Given the description of an element on the screen output the (x, y) to click on. 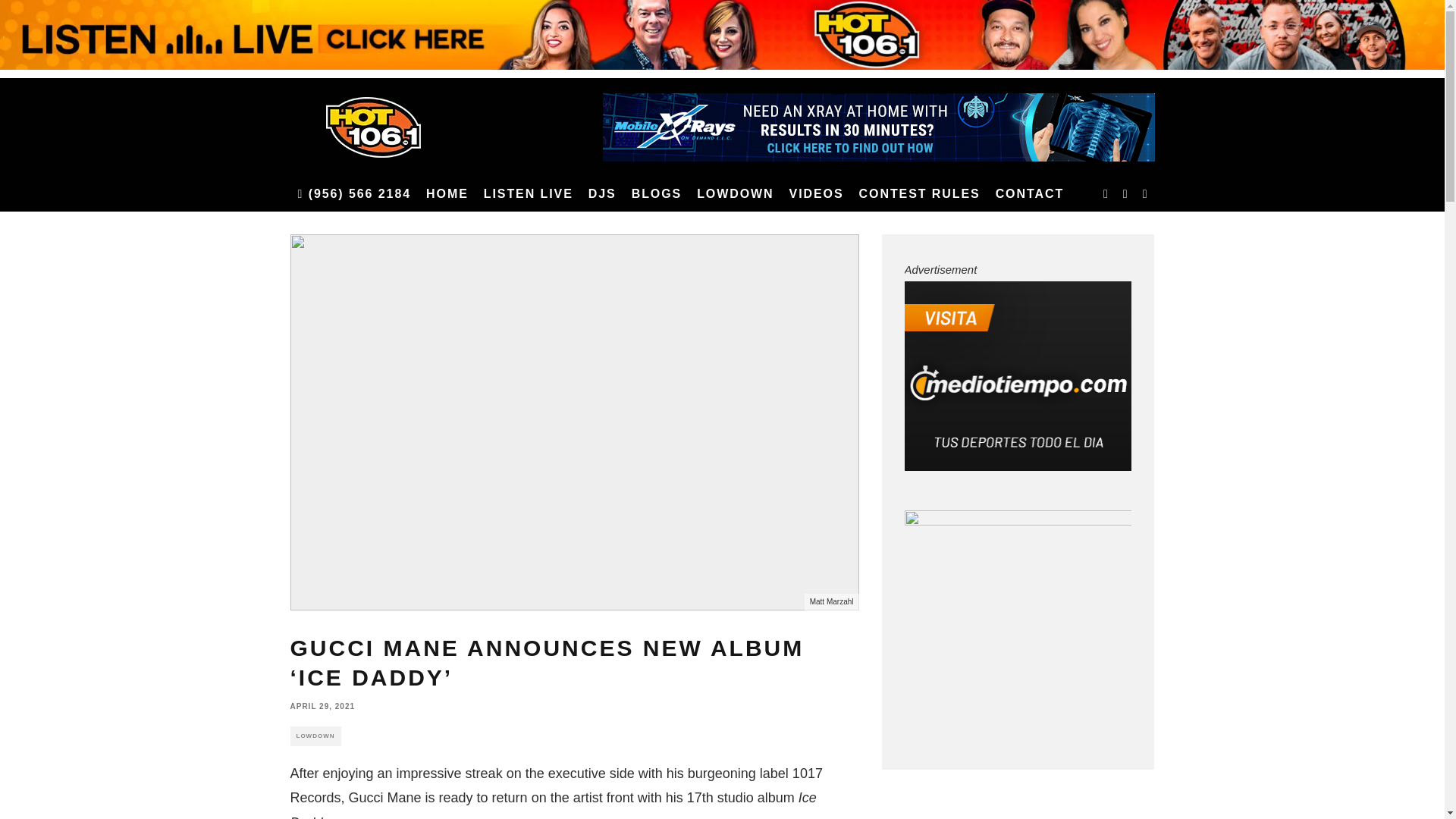
CONTEST RULES (919, 193)
BLOGS (657, 193)
HOME (447, 193)
LOWDOWN (734, 193)
LISTEN LIVE (528, 193)
DJS (602, 193)
VIDEOS (816, 193)
